Given the description of an element on the screen output the (x, y) to click on. 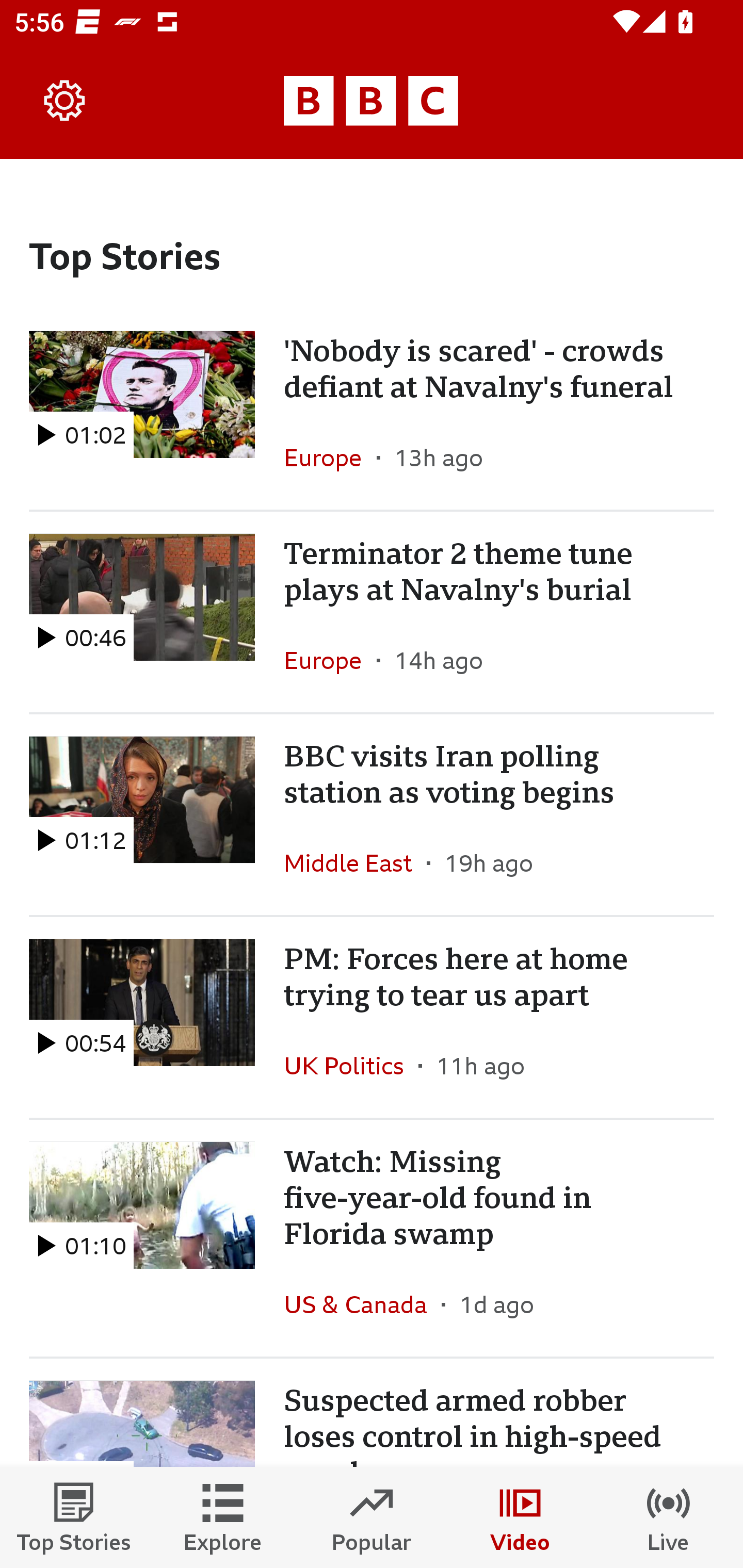
Settings (64, 100)
Europe In the section Europe (329, 457)
Europe In the section Europe (329, 659)
Middle East In the section Middle East (354, 862)
UK Politics In the section UK Politics (350, 1064)
US & Canada In the section US & Canada (362, 1304)
Top Stories (74, 1517)
Explore (222, 1517)
Popular (371, 1517)
Live (668, 1517)
